Given the description of an element on the screen output the (x, y) to click on. 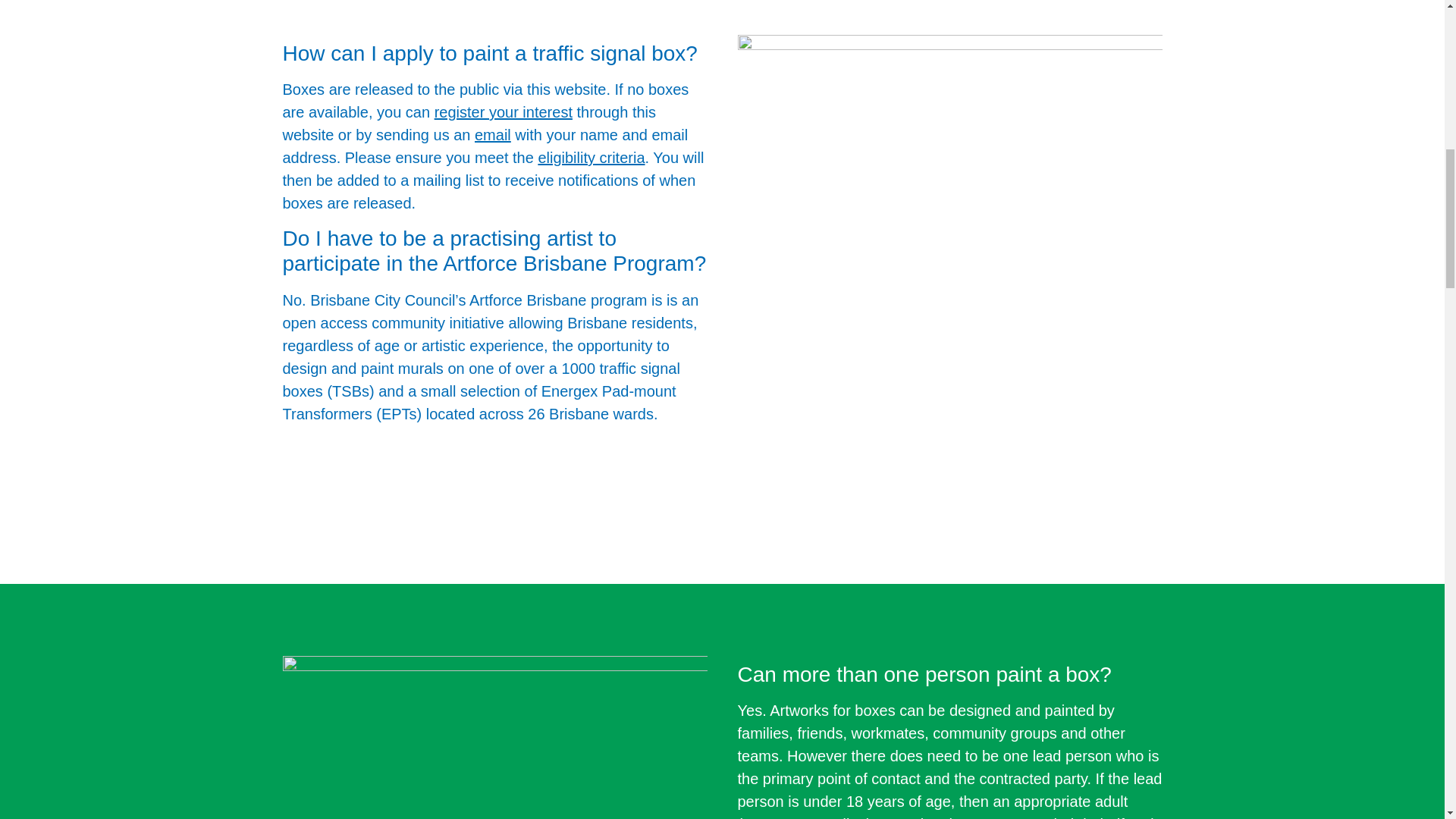
eligibility criteria. (593, 157)
register your interest (502, 112)
website (580, 89)
email (492, 134)
